Given the description of an element on the screen output the (x, y) to click on. 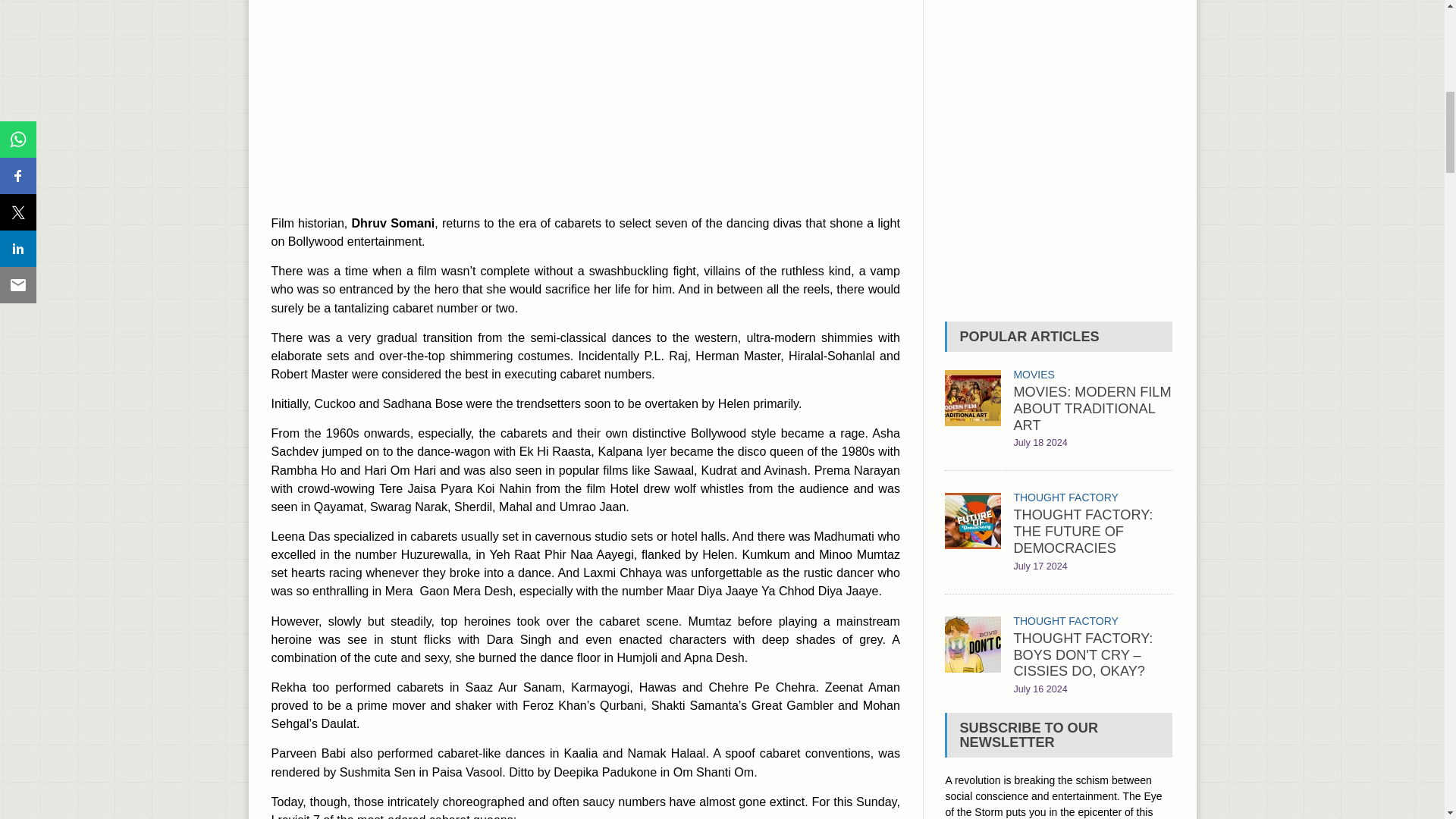
Advertisement (584, 101)
Advertisement (1058, 153)
